Given the description of an element on the screen output the (x, y) to click on. 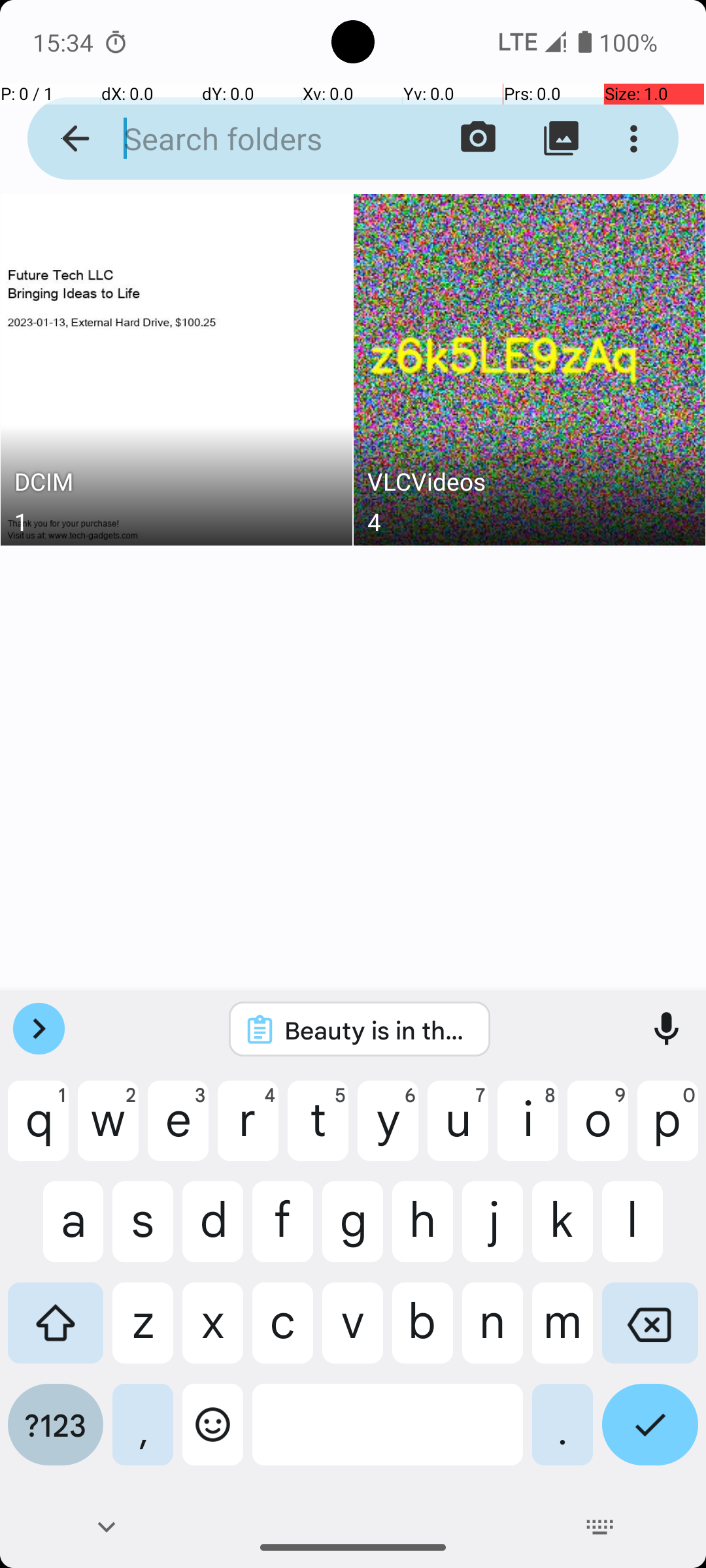
Open camera Element type: android.widget.Button (477, 138)
Show all folders content Element type: android.widget.Button (560, 138)
VLCVideos Element type: android.widget.TextView (529, 484)
Beauty is in the eye of the beholder. Element type: android.widget.TextView (376, 1029)
